Given the description of an element on the screen output the (x, y) to click on. 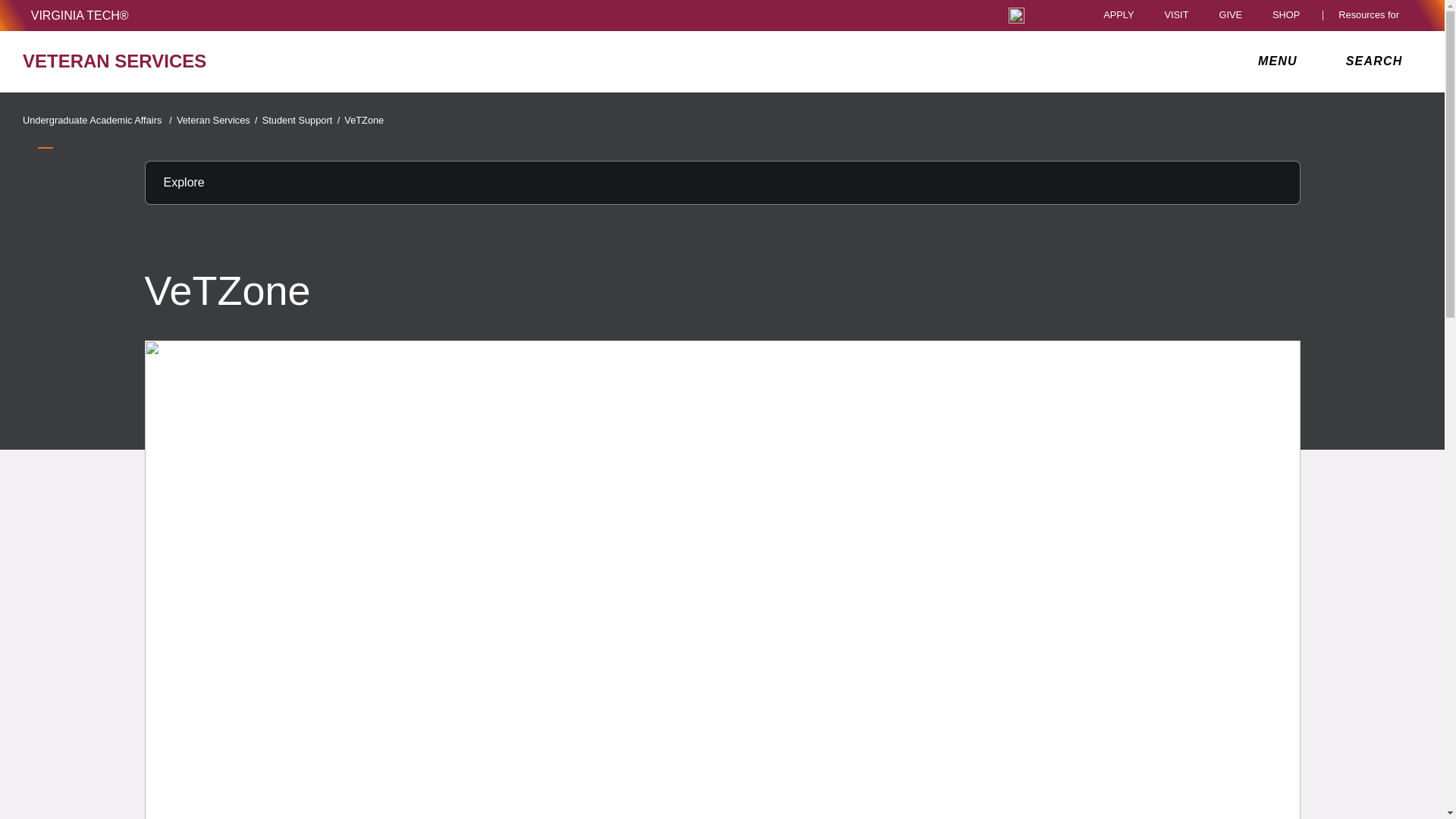
VETERAN SERVICES (250, 60)
MENU (1280, 61)
VISIT (1175, 15)
Resources for (1372, 15)
GIVE (1229, 15)
APPLY (1118, 15)
SHOP (1289, 15)
Universal Access Toggle (1017, 15)
